Given the description of an element on the screen output the (x, y) to click on. 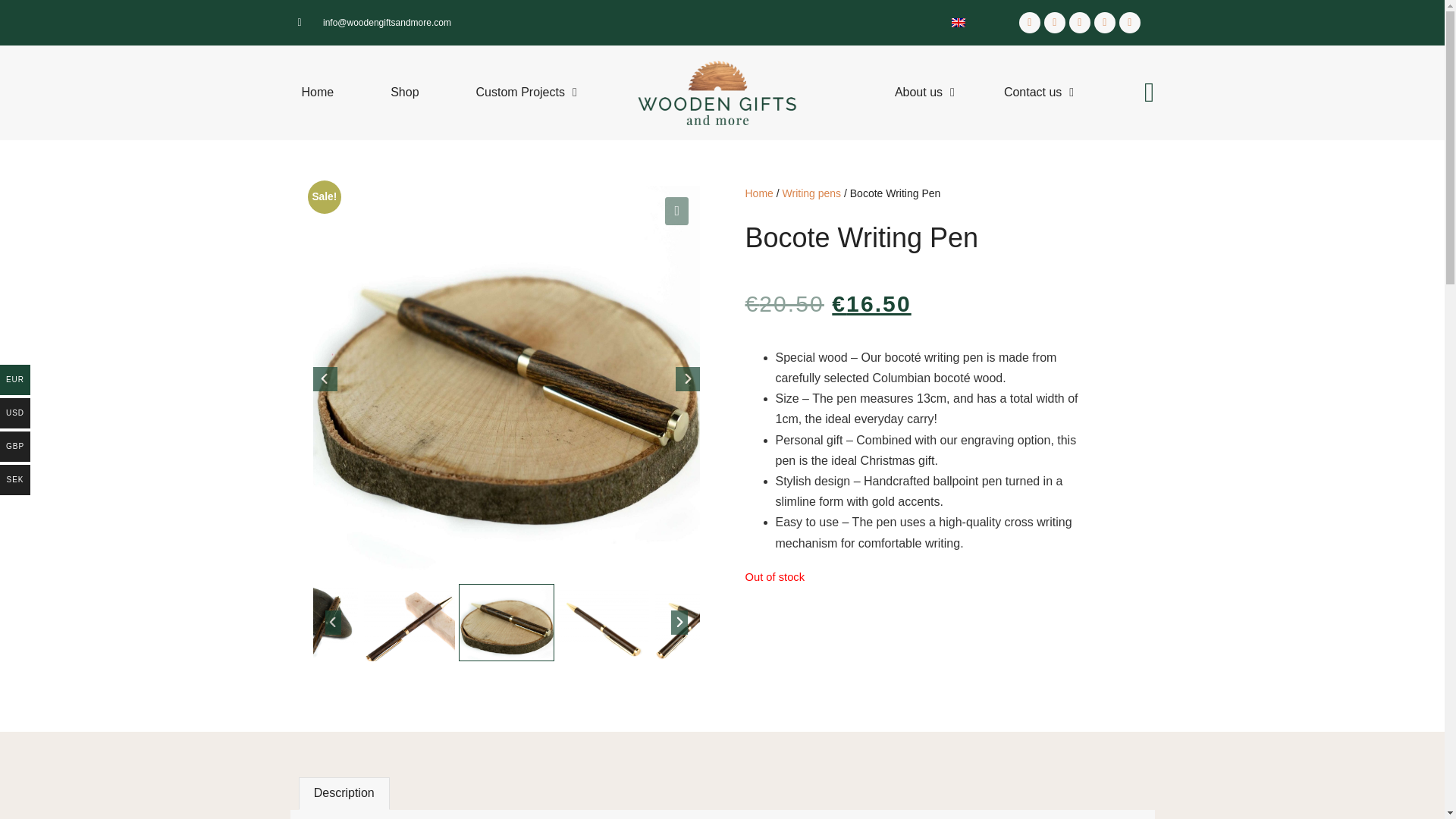
Home (317, 91)
About us (924, 91)
Custom Projects (526, 91)
Shop (403, 91)
Contact us (1038, 91)
